Given the description of an element on the screen output the (x, y) to click on. 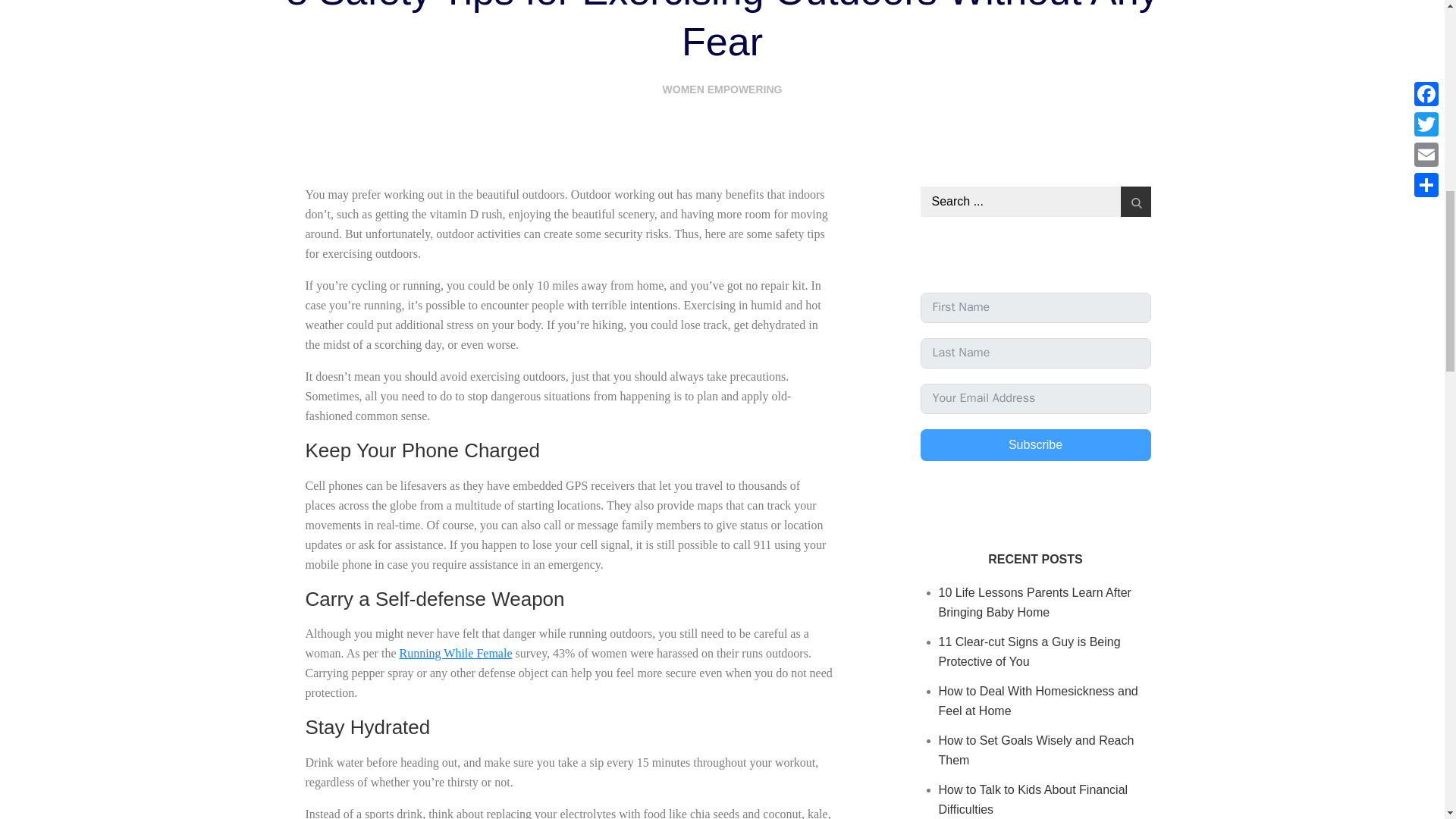
Search (1136, 201)
Running While Female (455, 653)
How to Deal With Homesickness and Feel at Home (1038, 700)
How to Set Goals Wisely and Reach Them (1036, 749)
11 Clear-cut Signs a Guy is Being Protective of You (1030, 651)
Subscribe (1035, 445)
How to Talk to Kids About Financial Difficulties (1033, 798)
Search for: (1035, 201)
WOMEN EMPOWERING (722, 89)
10 Life Lessons Parents Learn After Bringing Baby Home (1035, 602)
